Given the description of an element on the screen output the (x, y) to click on. 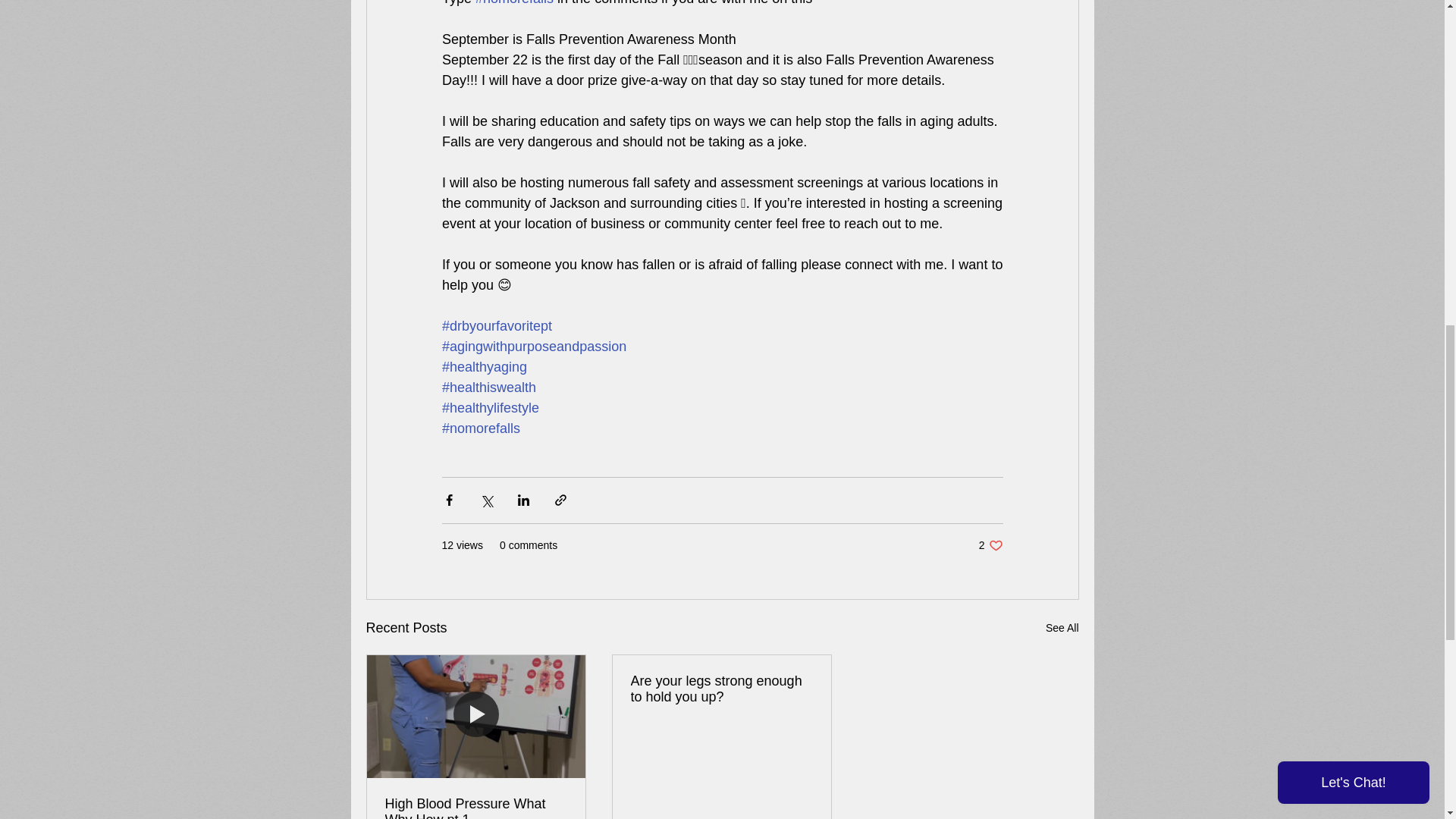
See All (990, 545)
Are your legs strong enough to hold you up? (1061, 628)
High Blood Pressure What Why How pt 1 (721, 689)
